Given the description of an element on the screen output the (x, y) to click on. 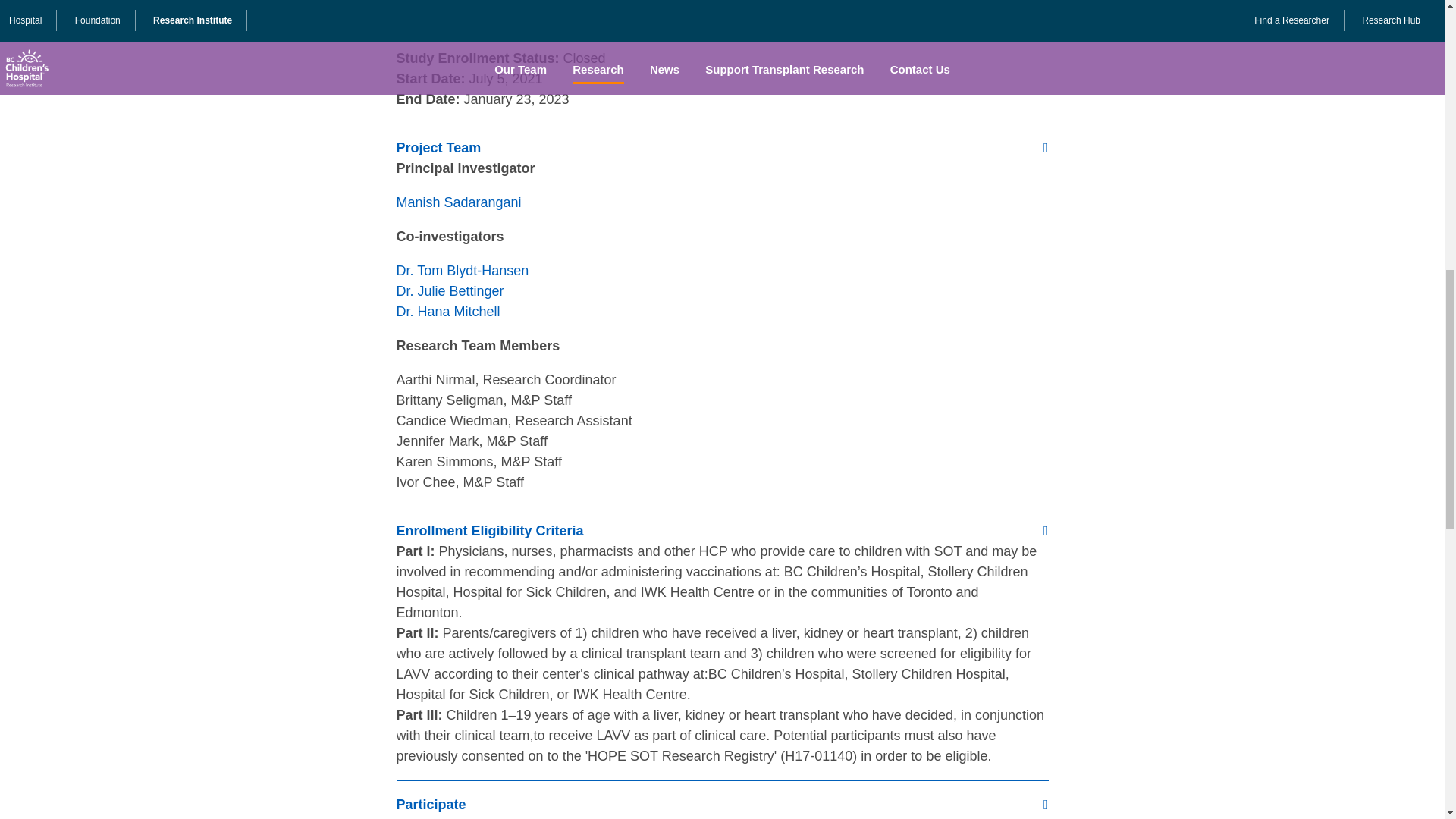
Dr. Julie Bettinger (449, 290)
Dr. Hana Mitchell (447, 311)
Manish Sadarangani (458, 201)
Manish Sadarangani (458, 201)
Tom Blydt-Hansen (462, 270)
Hana Mitchell (447, 311)
Julie A Bettinger (449, 290)
Dr. Tom Blydt-Hansen (462, 270)
